Given the description of an element on the screen output the (x, y) to click on. 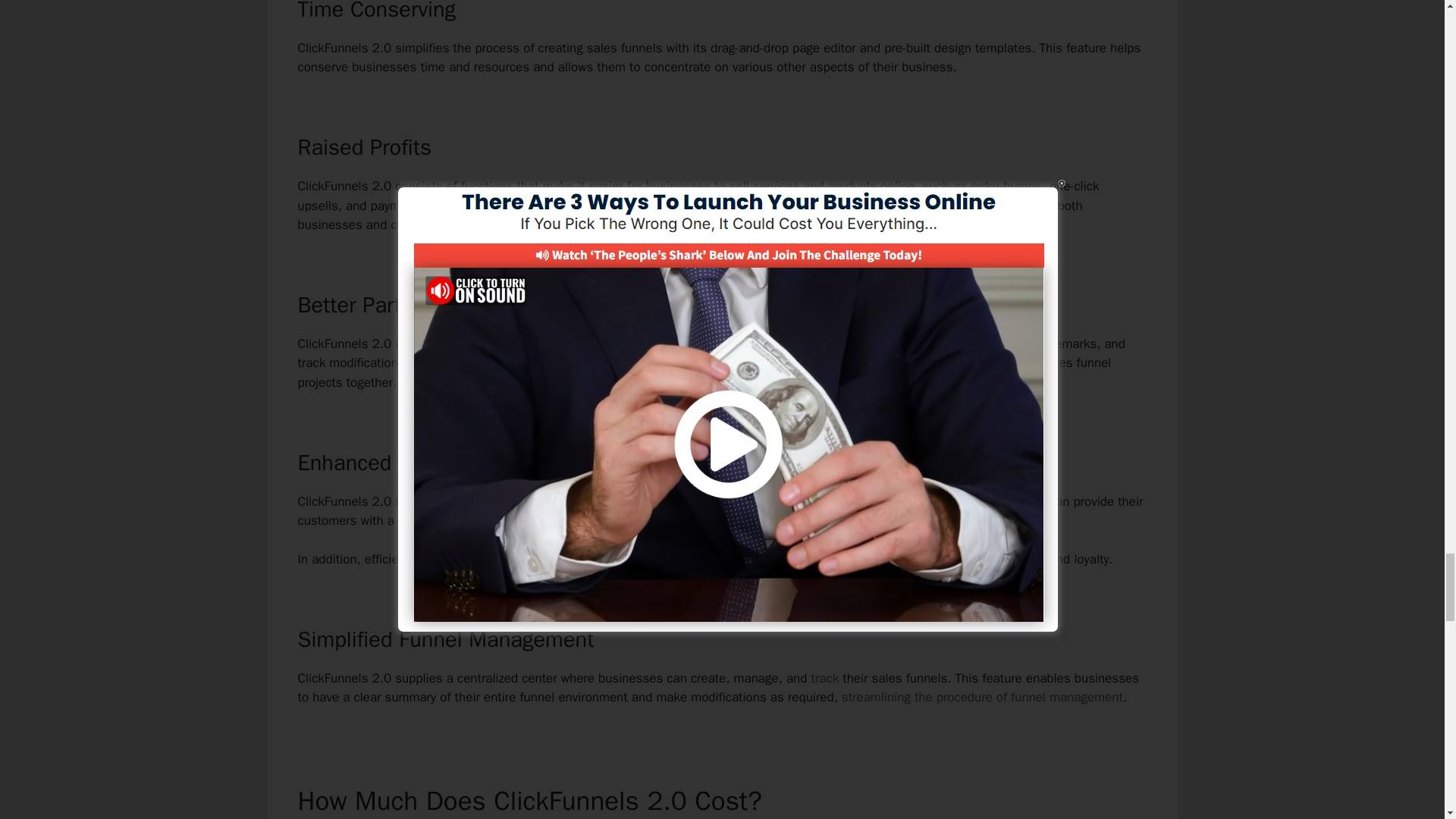
streamlining the procedure of funnel management (981, 697)
track (824, 678)
